Given the description of an element on the screen output the (x, y) to click on. 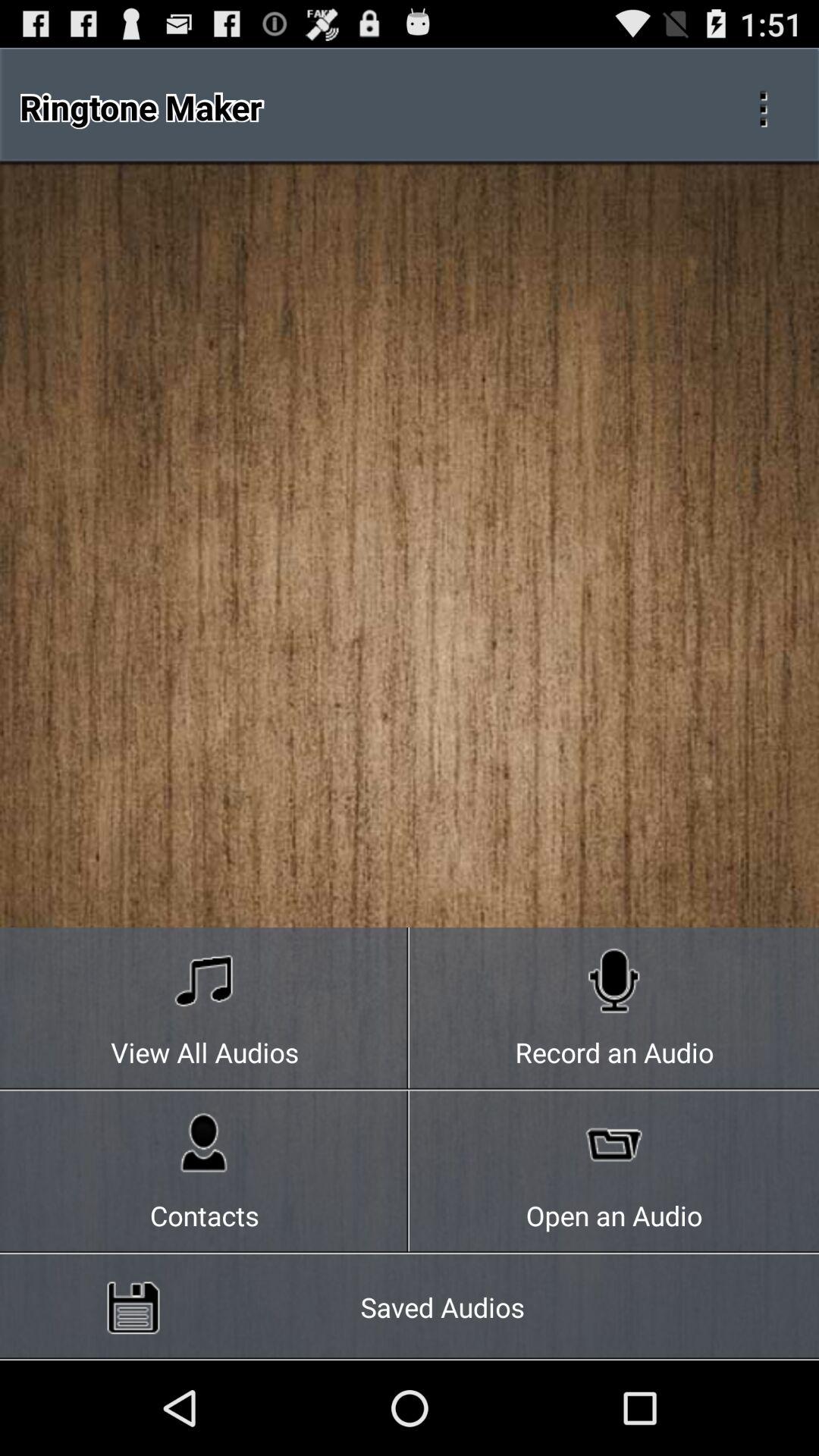
click contacts (204, 1172)
